Given the description of an element on the screen output the (x, y) to click on. 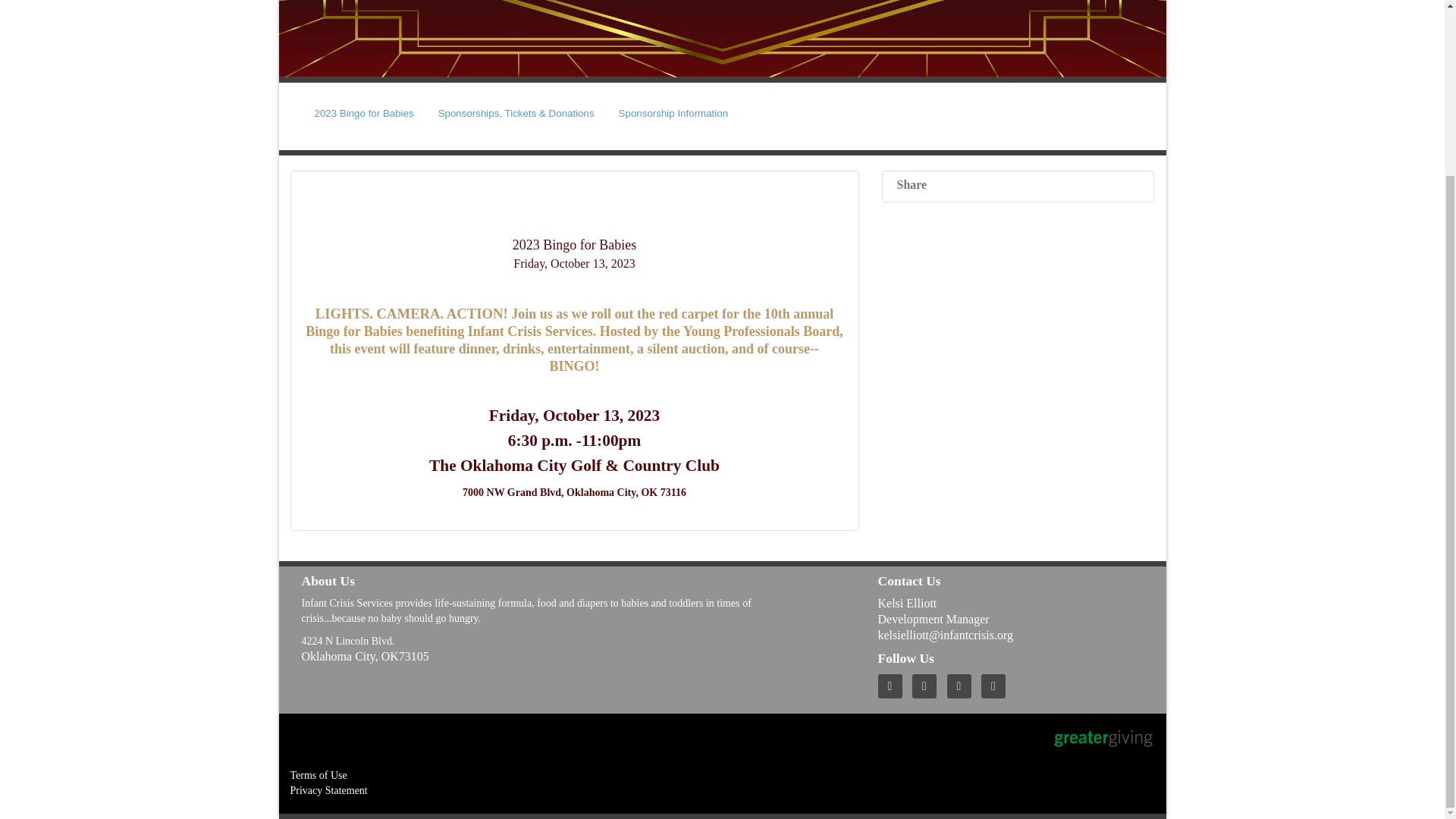
Home (893, 686)
Privacy Statement (327, 790)
Event Logo Image (722, 38)
2023 Bingo for Babies (363, 113)
Facebook (962, 686)
Terms of Use (317, 775)
Instagram (997, 686)
Sponsorship Information (673, 113)
Twitter (927, 686)
